Given the description of an element on the screen output the (x, y) to click on. 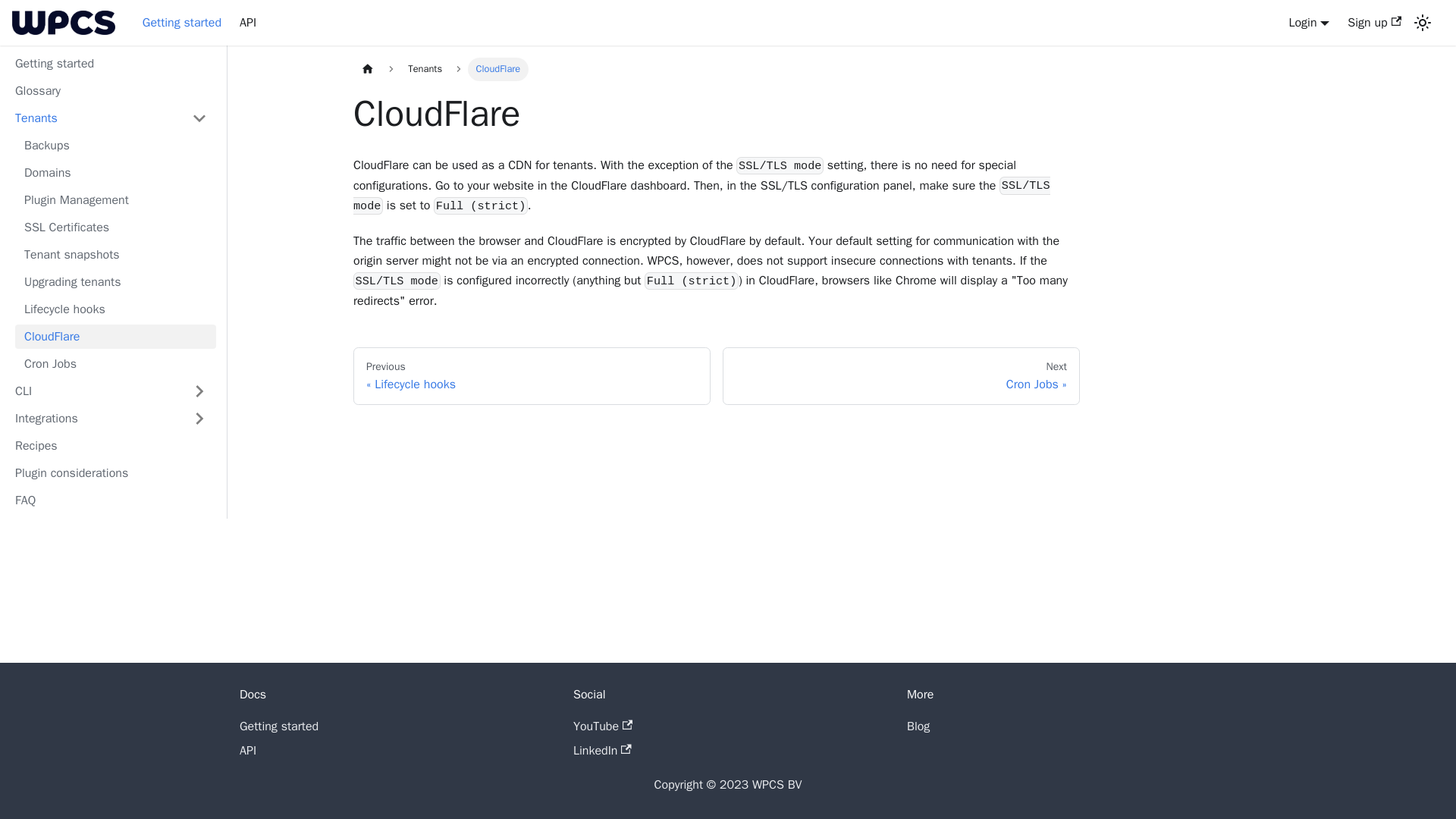
Getting started (110, 63)
Cron Jobs (114, 363)
Getting started (181, 22)
API (248, 750)
Login (1308, 22)
Backups (114, 145)
Tenant snapshots (114, 254)
Plugin Management (114, 200)
Getting started (279, 726)
FAQ (110, 500)
API (247, 22)
Glossary (110, 90)
Sign up (1374, 22)
Lifecycle hooks (114, 309)
